Given the description of an element on the screen output the (x, y) to click on. 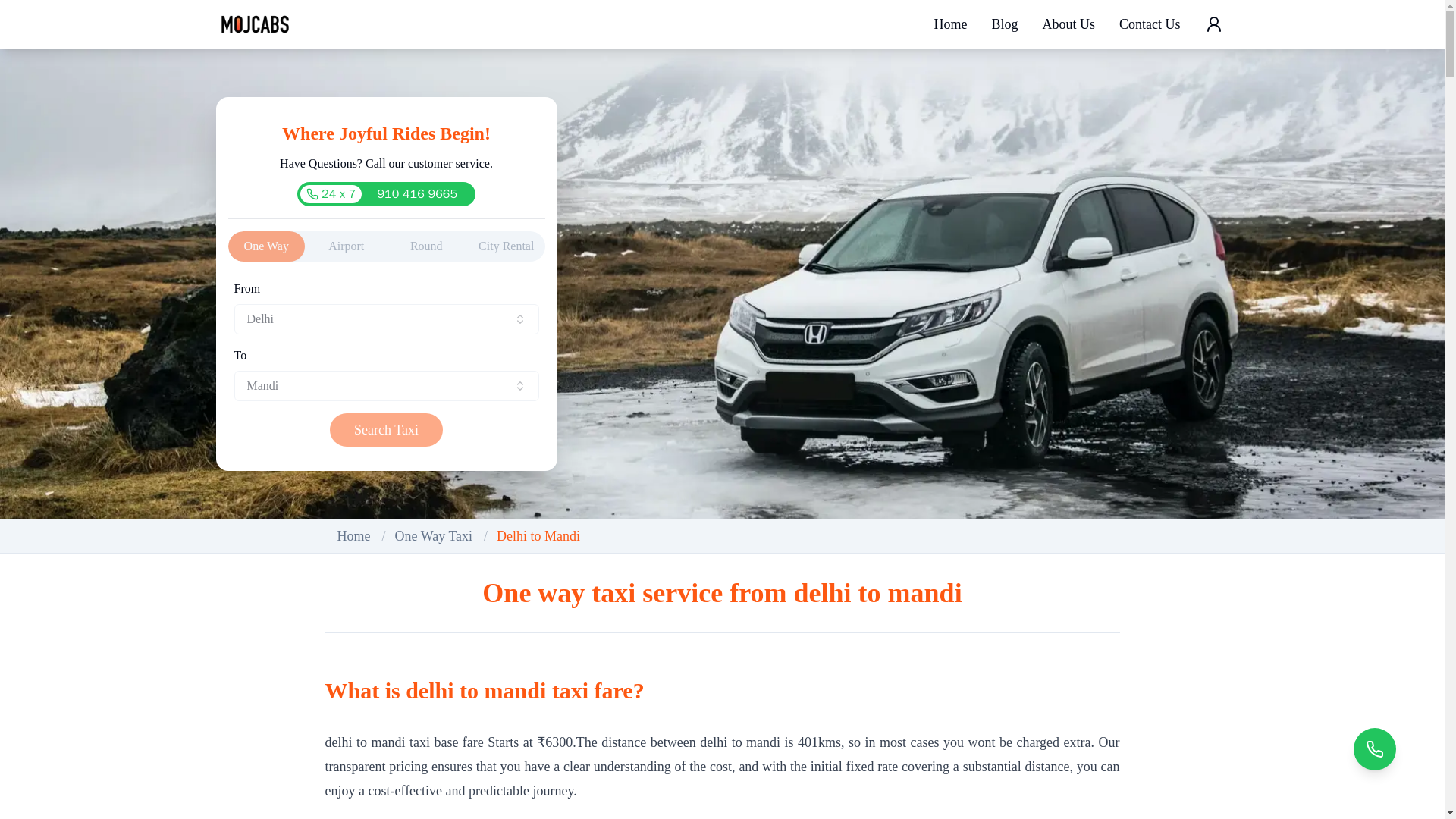
One Way (265, 245)
Airport (346, 245)
Delhi (385, 318)
Mandi (385, 386)
One Way Taxi (432, 535)
About Us (1067, 24)
City Rental (386, 193)
Home (505, 245)
Contact Us (949, 24)
Round (1149, 24)
Search Taxi (426, 245)
Home (386, 429)
